Given the description of an element on the screen output the (x, y) to click on. 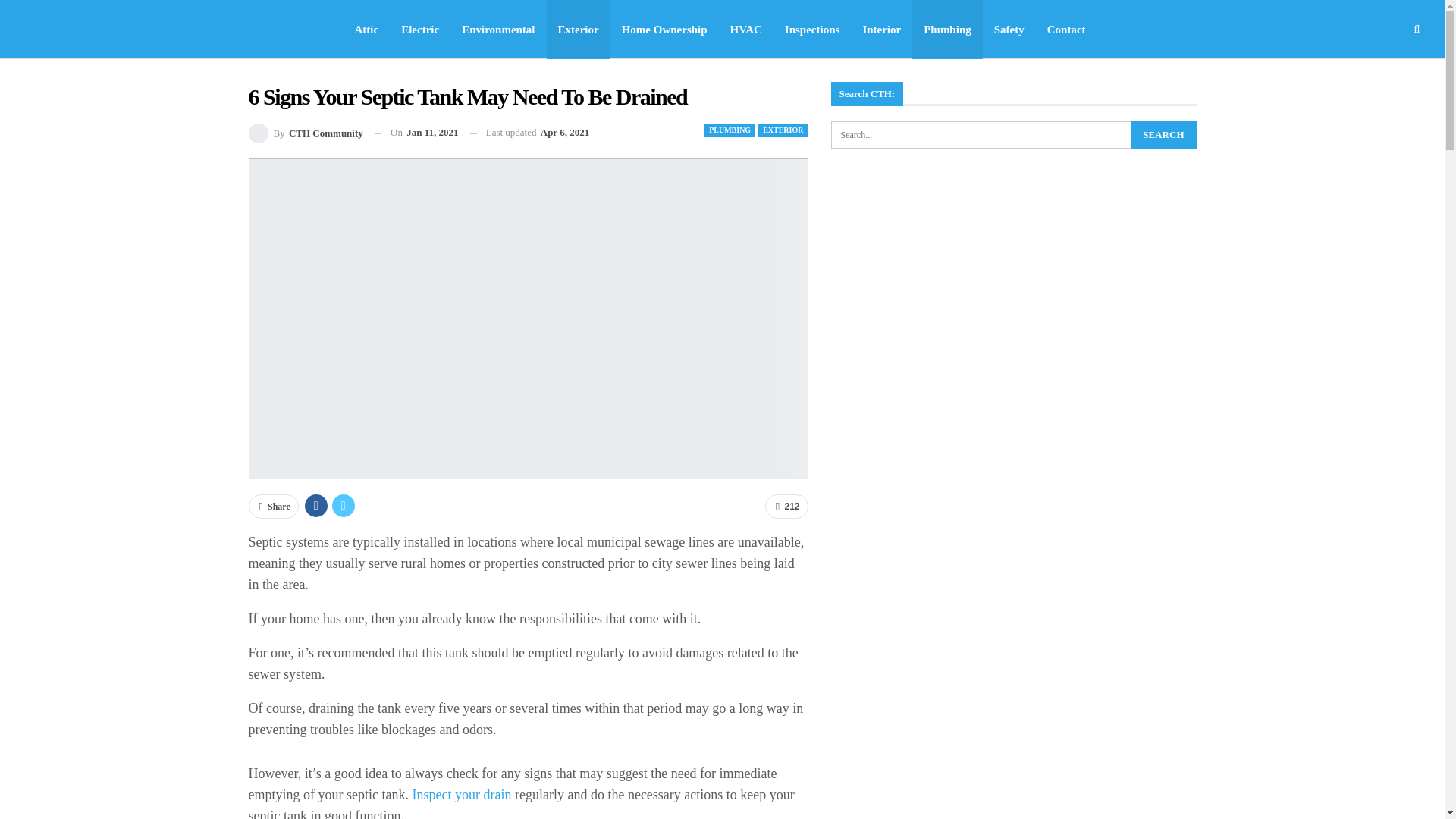
By CTH Community (305, 132)
Interior (881, 29)
Exterior (578, 29)
HVAC (746, 29)
Home Ownership (664, 29)
Search (1163, 134)
Contact (1066, 29)
Plumbing (947, 29)
PLUMBING (729, 130)
Inspections (812, 29)
